Given the description of an element on the screen output the (x, y) to click on. 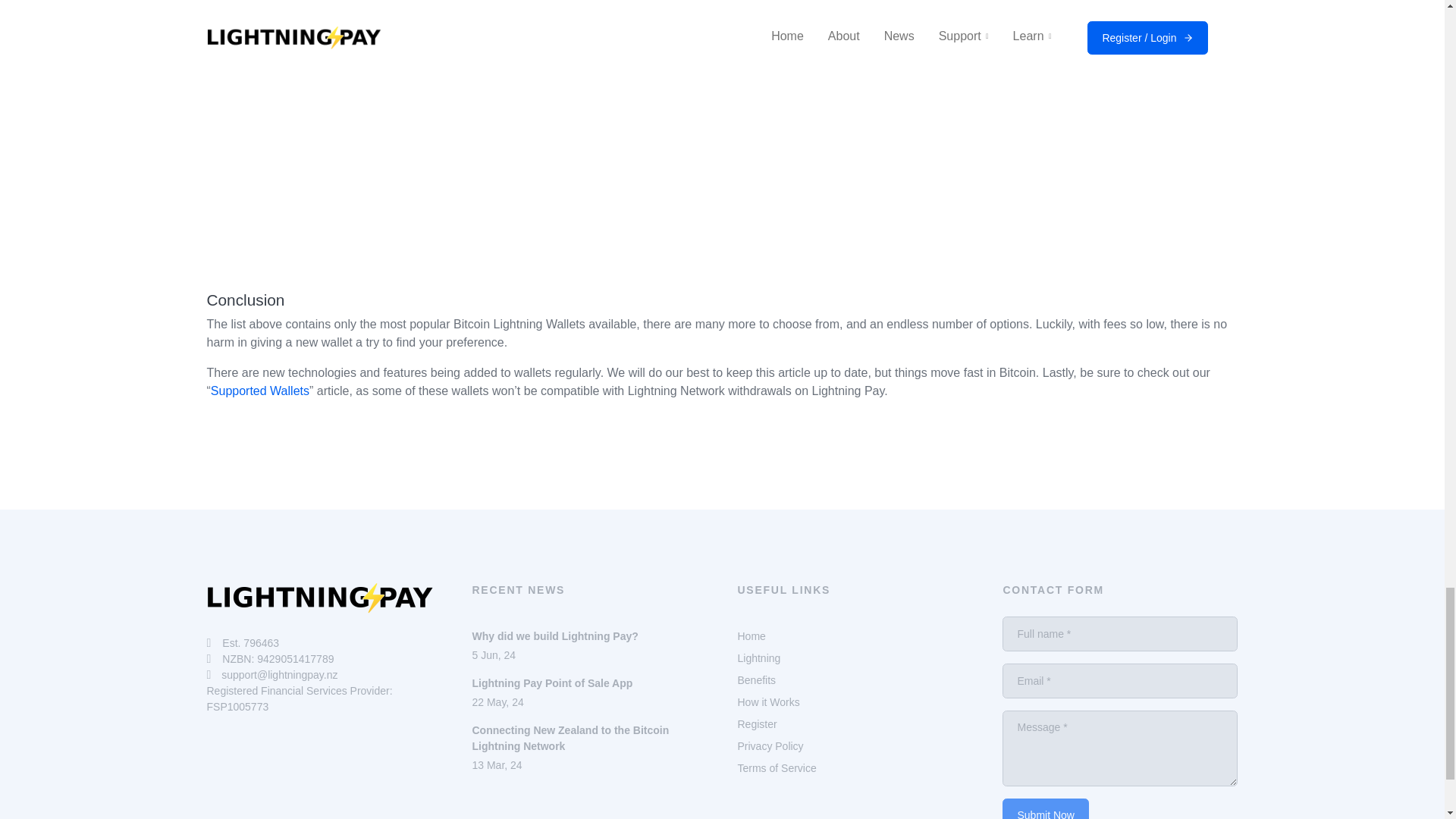
Register (756, 724)
Submit Now (1045, 808)
Est. 796463 (588, 691)
Privacy Policy (250, 643)
Home (769, 746)
Benefits (750, 635)
Submit Now (756, 680)
